Given the description of an element on the screen output the (x, y) to click on. 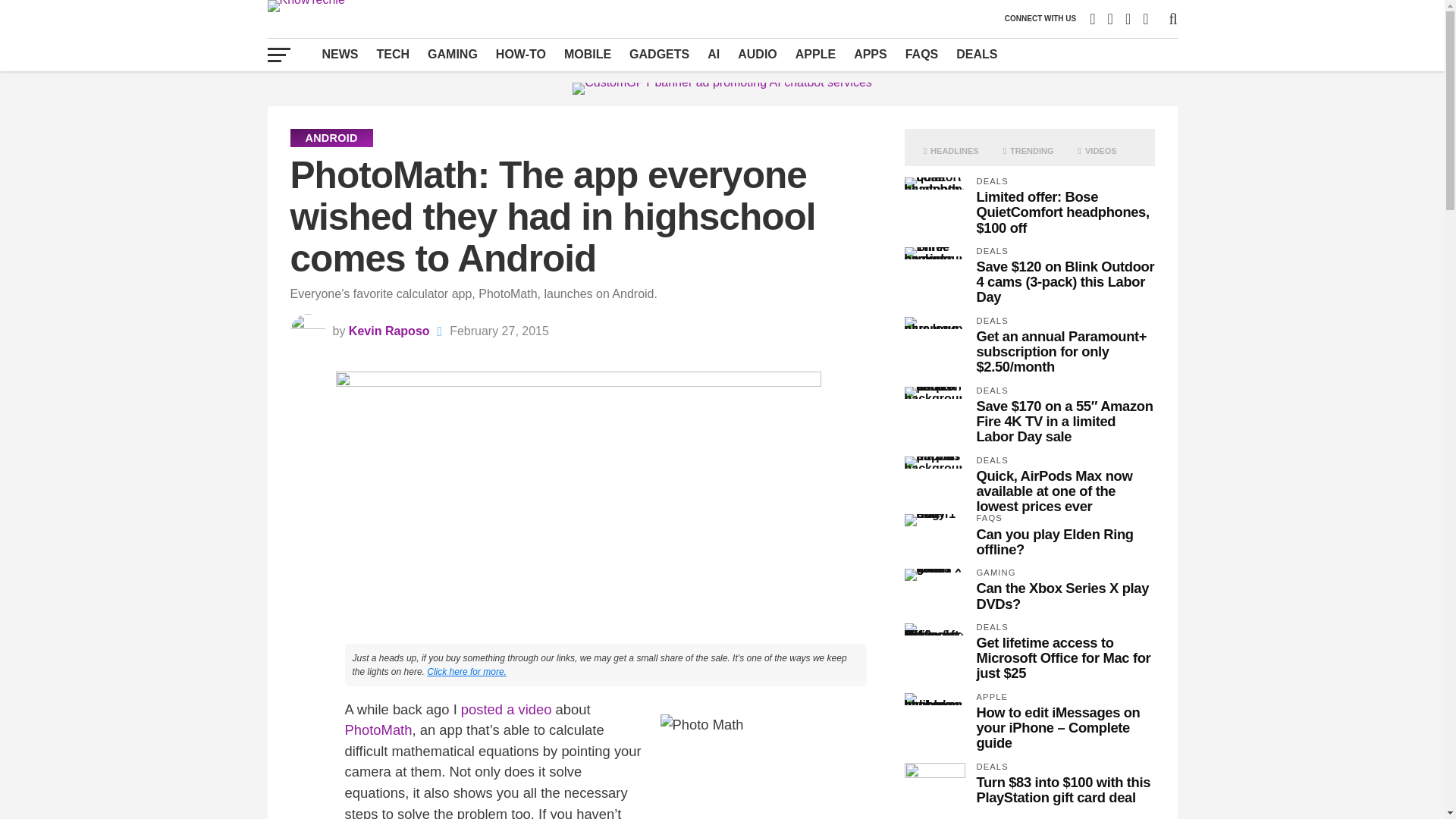
HOW-TO (520, 54)
TECH (392, 54)
FAQS (921, 54)
MOBILE (587, 54)
DEALS (976, 54)
AUDIO (757, 54)
GAMING (452, 54)
AI (713, 54)
APPS (870, 54)
APPLE (815, 54)
